Given the description of an element on the screen output the (x, y) to click on. 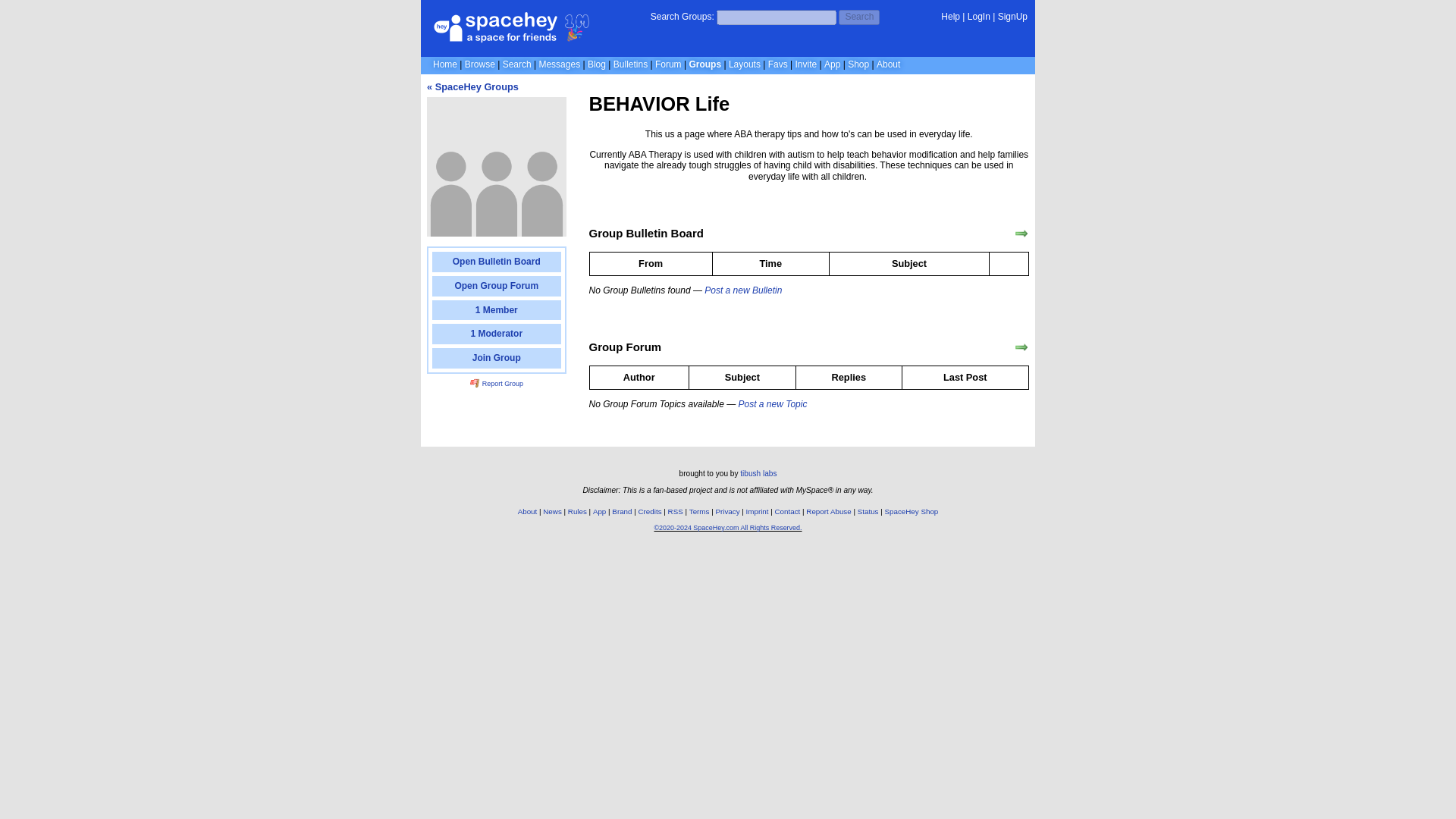
Search (858, 17)
About (887, 63)
Messages (558, 63)
App (598, 510)
Rules (576, 510)
App (832, 63)
1 Moderator (496, 333)
Post a new Topic (772, 403)
Favs (777, 63)
SpaceHey Mobile (832, 63)
